Given the description of an element on the screen output the (x, y) to click on. 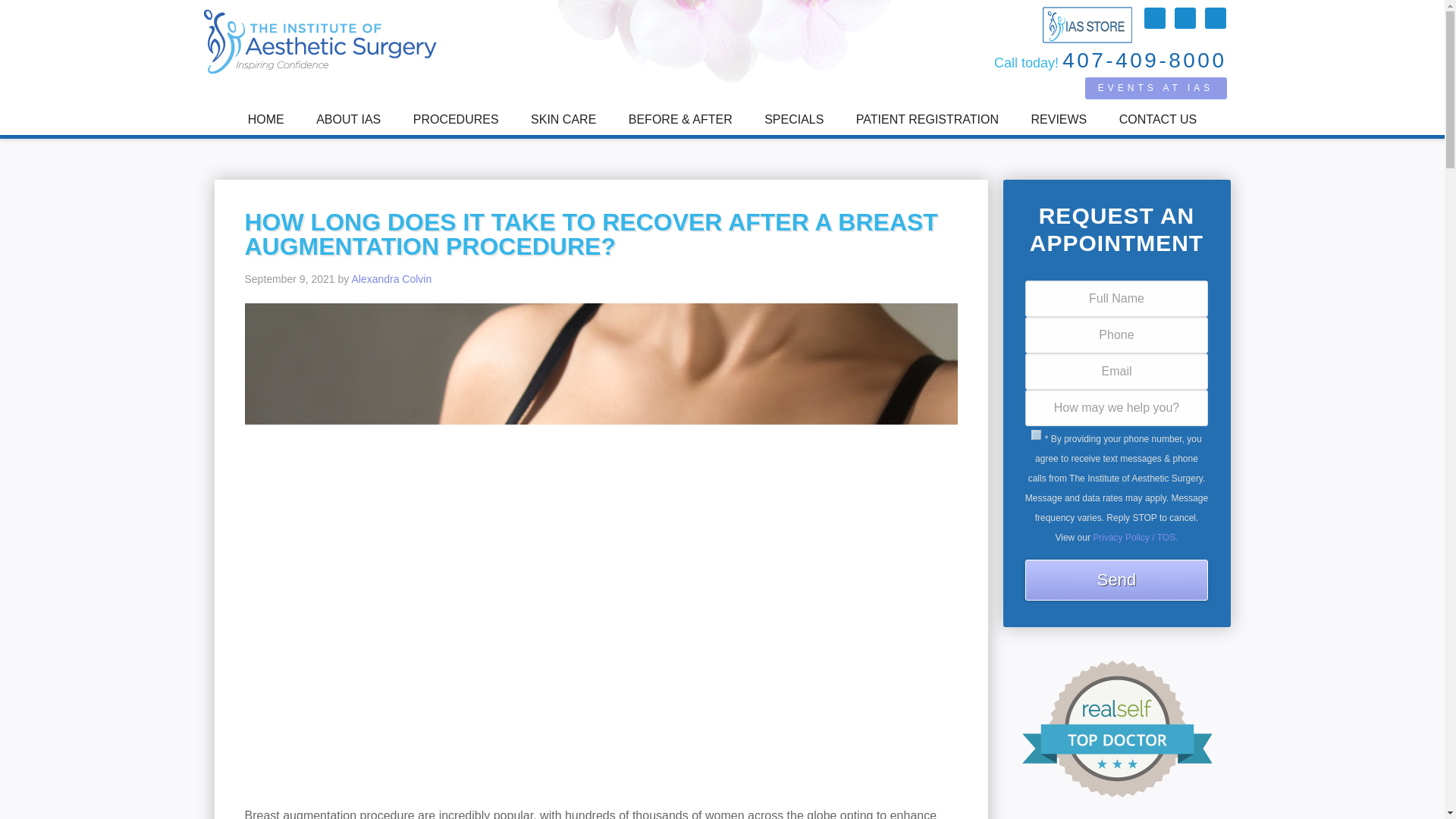
Call today!407-409-8000 (1107, 60)
1 (1035, 434)
HOME (265, 119)
PROCEDURES (455, 119)
Privacy Policy (1135, 537)
Send (1116, 579)
THE INSTITUTE OF AESTHETIC SURGERY (322, 41)
EVENTS AT IAS (1154, 87)
ABOUT IAS (347, 119)
